Given the description of an element on the screen output the (x, y) to click on. 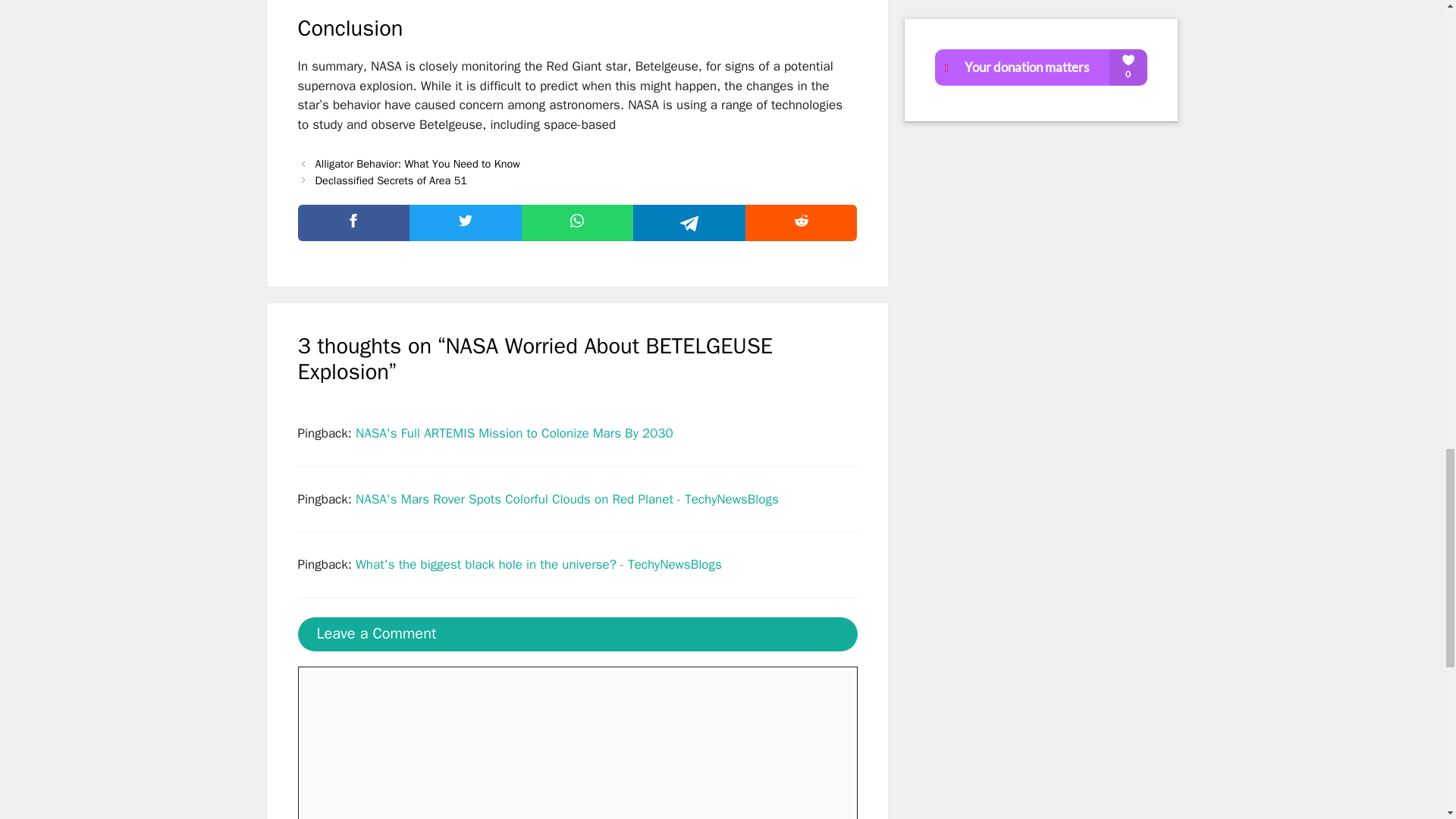
NASA's Full ARTEMIS Mission to Colonize Mars By 2030 (513, 433)
Declassified Secrets of Area 51 (391, 180)
Alligator Behavior: What You Need to Know (417, 163)
